Given the description of an element on the screen output the (x, y) to click on. 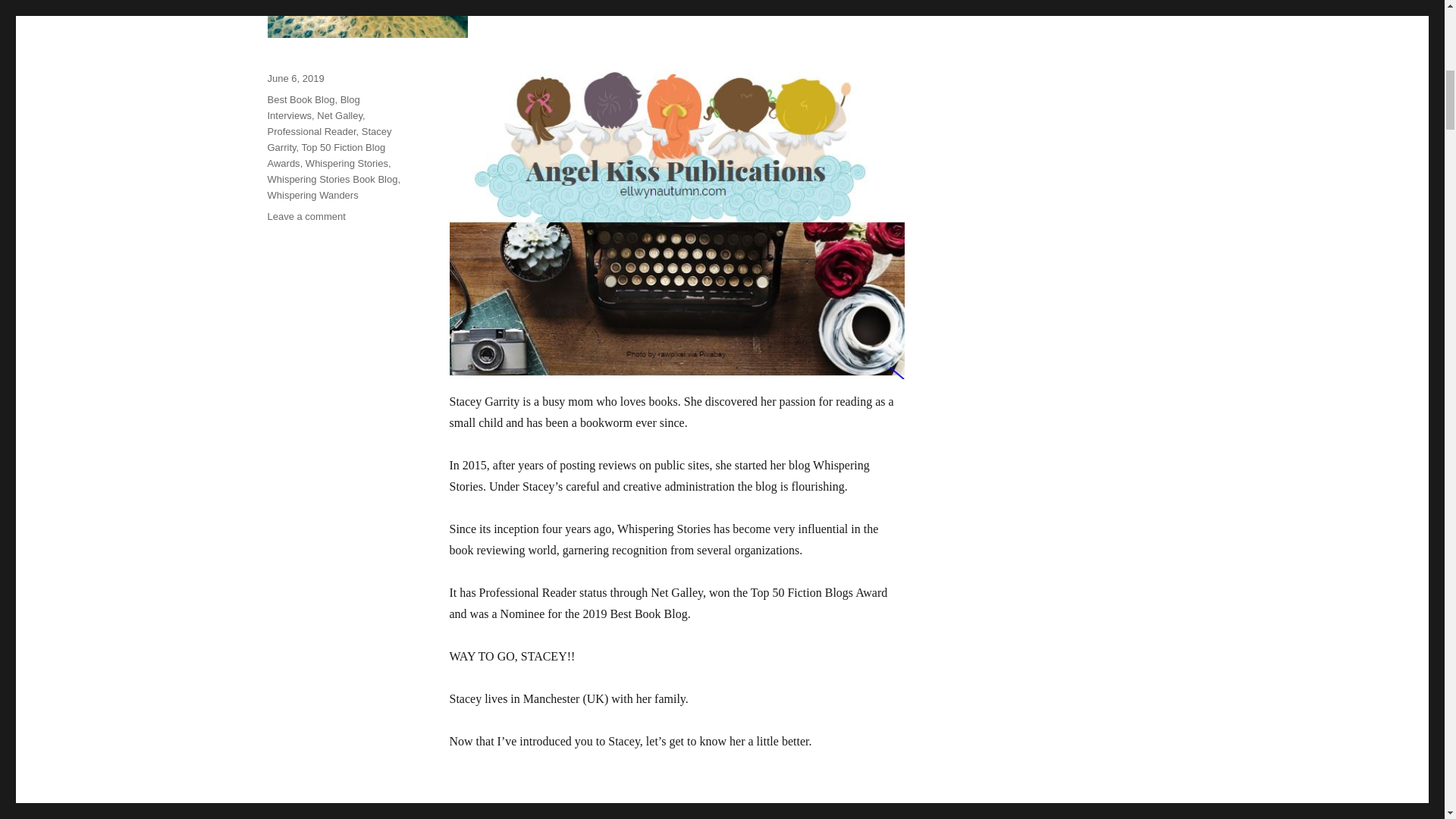
Best Book Blog (300, 99)
June 6, 2019 (294, 78)
